Given the description of an element on the screen output the (x, y) to click on. 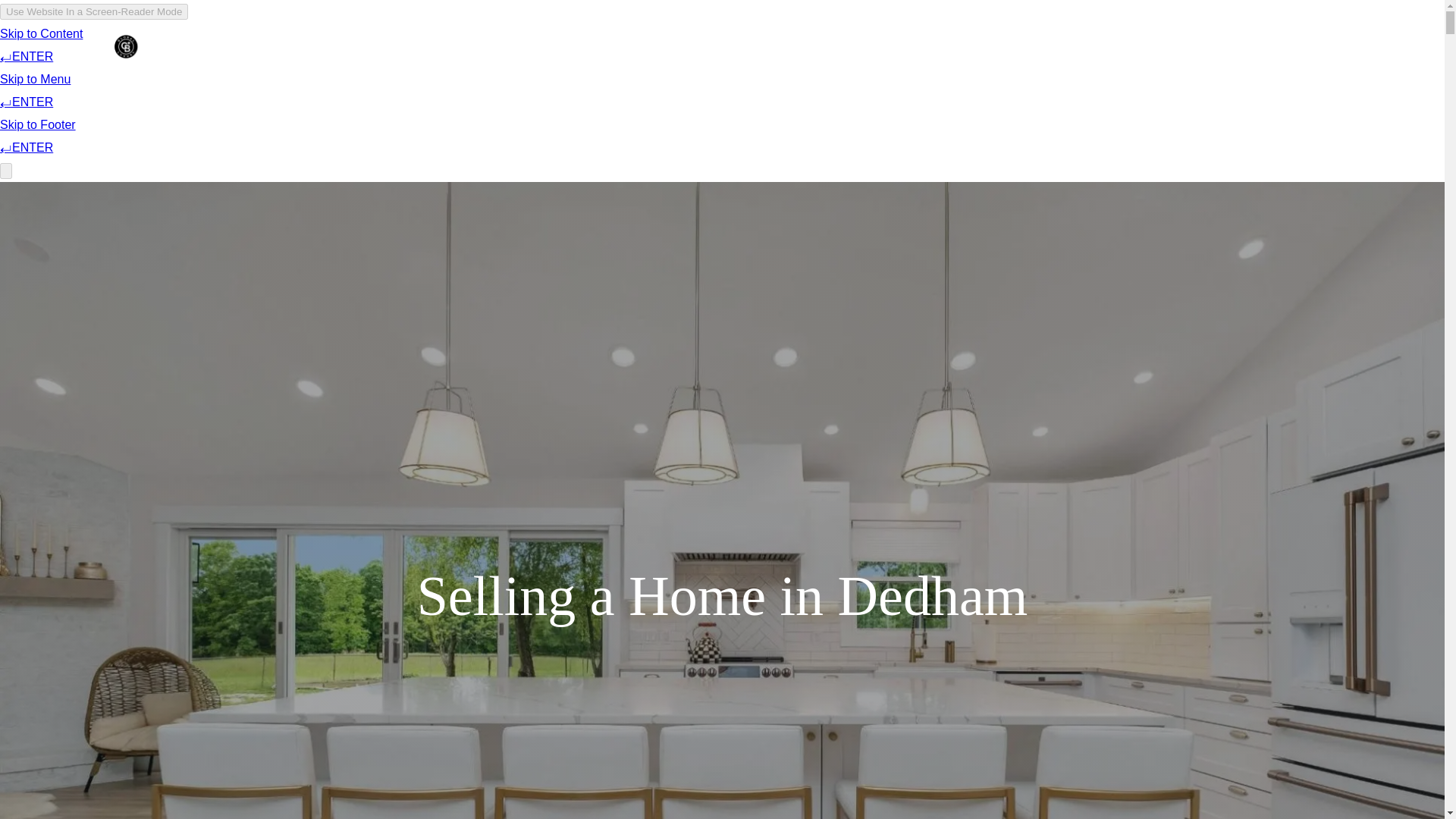
HOME SEARCH (812, 46)
PROPERTIES (690, 46)
INSTANT HOME VALUATION (963, 46)
LET'S CONNECT (1112, 46)
